Given the description of an element on the screen output the (x, y) to click on. 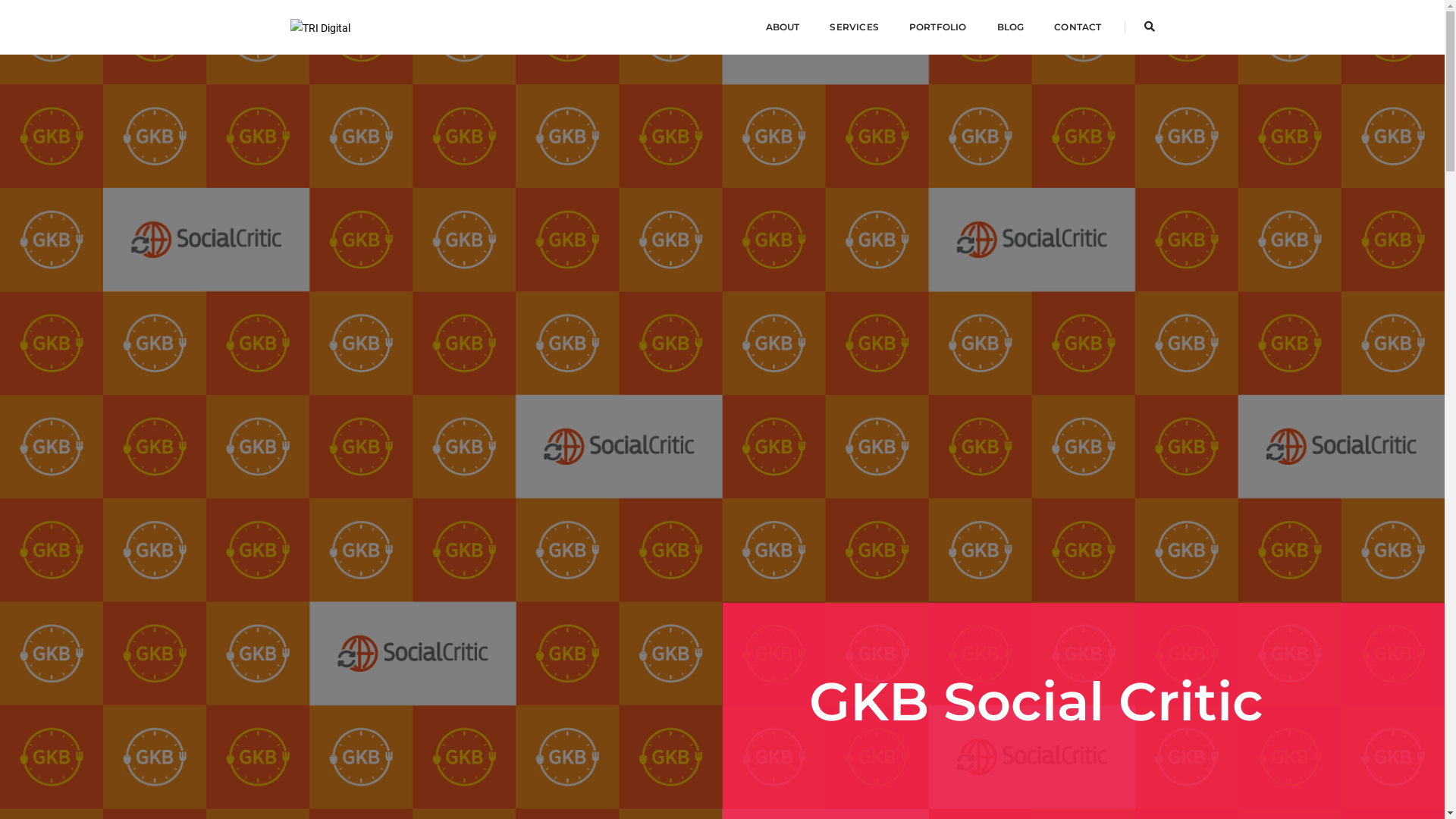
BLOG Element type: text (1009, 27)
CONTACT Element type: text (1077, 27)
TRI Digital Element type: hover (319, 26)
ABOUT Element type: text (782, 27)
SERVICES Element type: text (853, 27)
PORTFOLIO Element type: text (937, 27)
